Given the description of an element on the screen output the (x, y) to click on. 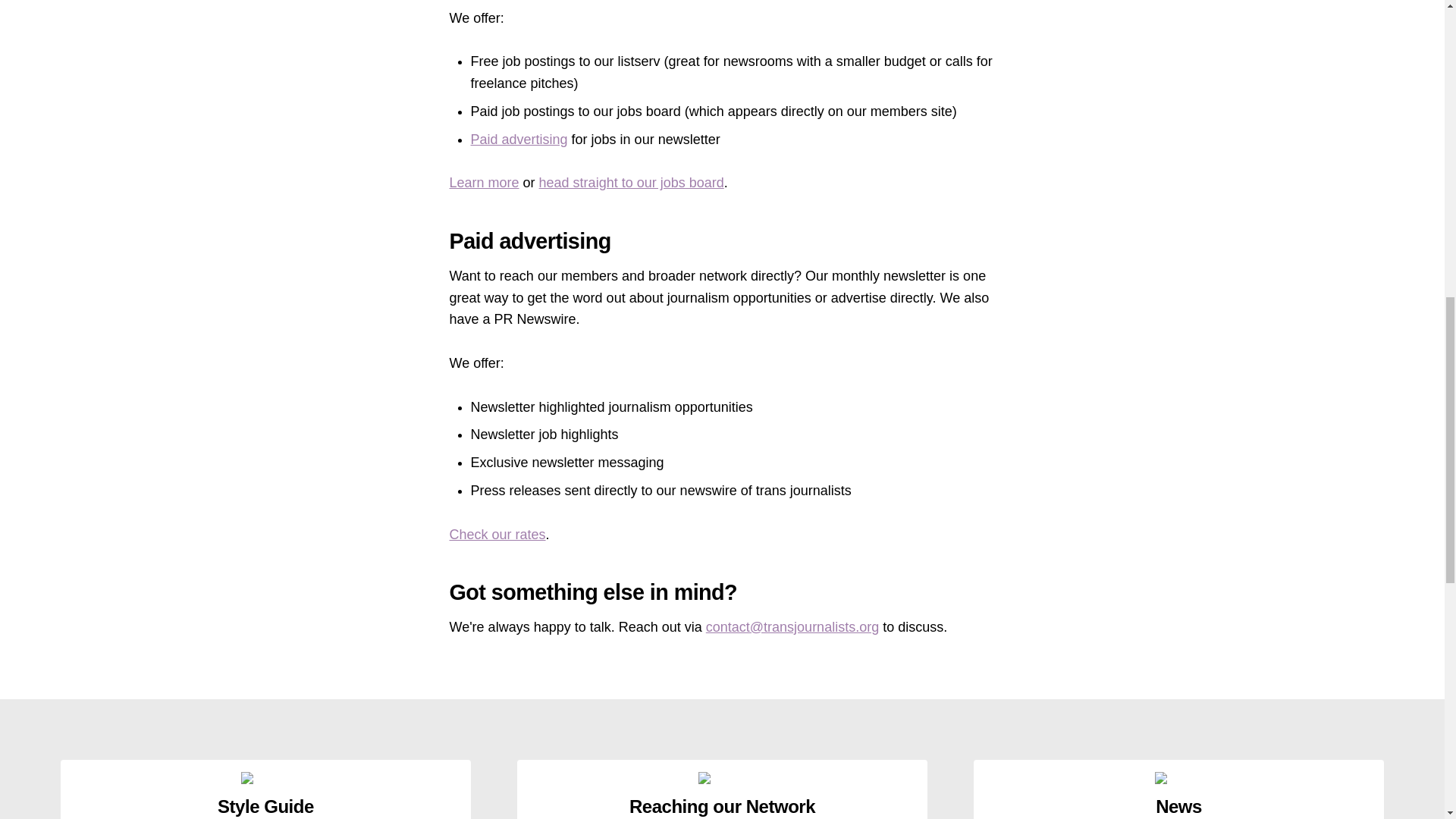
Check our rates (496, 534)
Paid advertising (518, 139)
head straight to our jobs board (630, 182)
Learn more (483, 182)
